Given the description of an element on the screen output the (x, y) to click on. 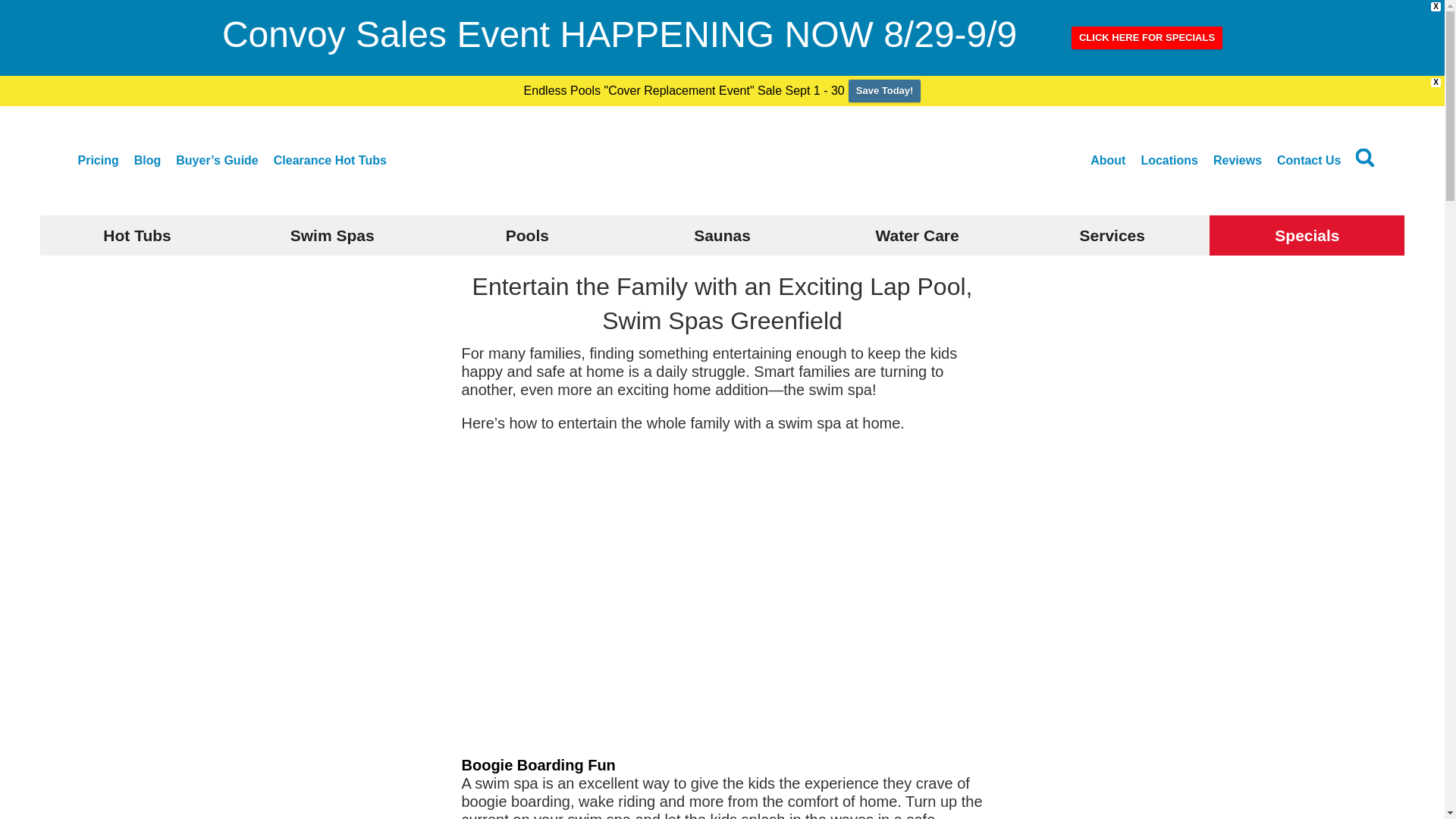
Pricing (97, 160)
Save Today! (884, 90)
Hot Tubs (136, 235)
Reviews (1237, 160)
Blog (147, 160)
Contact Us (1308, 160)
About (1107, 160)
Locations (1169, 160)
CLICK HERE FOR SPECIALS (1147, 37)
Clearance Hot Tubs (330, 160)
